Given the description of an element on the screen output the (x, y) to click on. 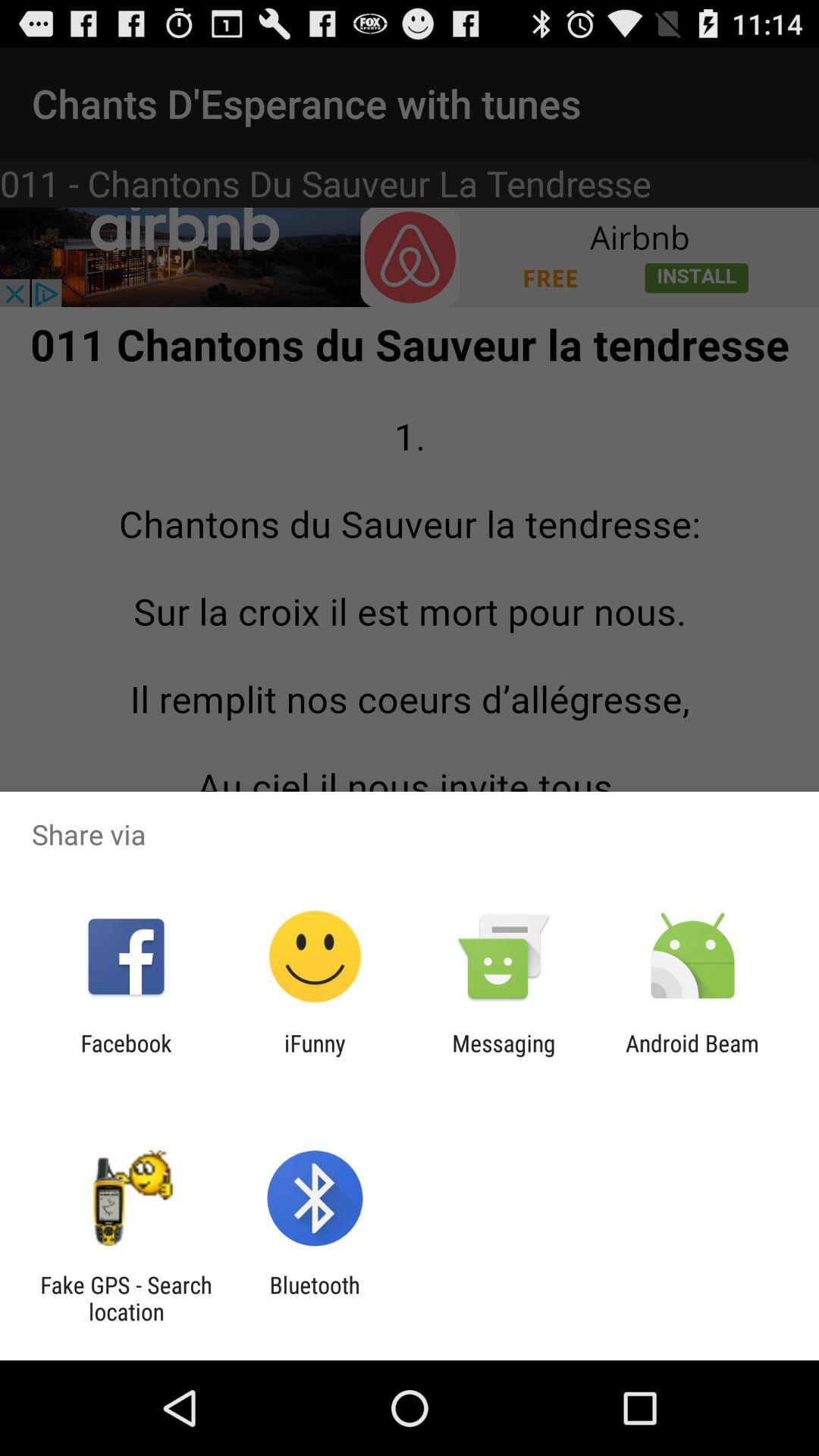
tap item to the right of facebook icon (314, 1056)
